Given the description of an element on the screen output the (x, y) to click on. 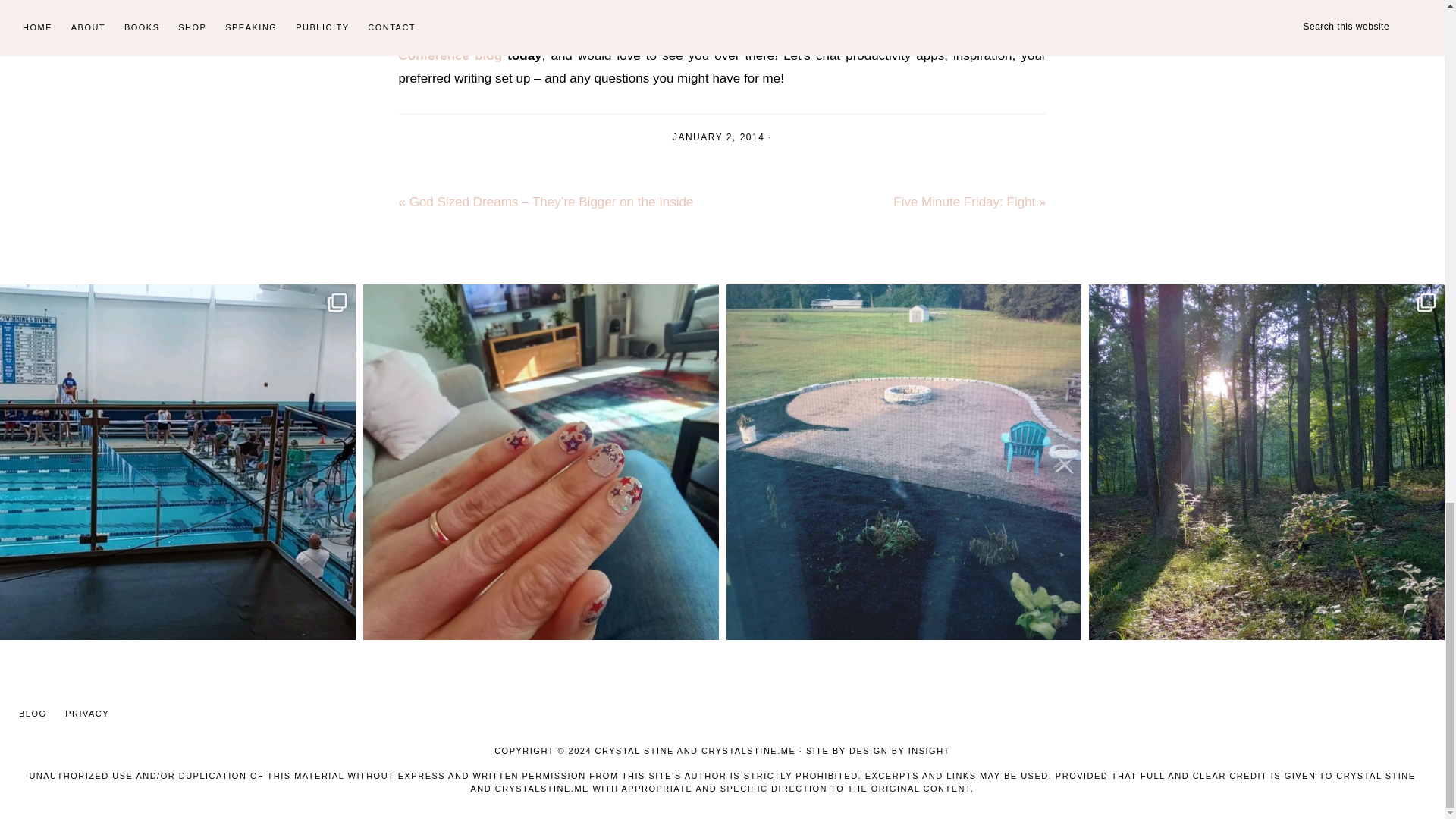
Declare Conference blog (722, 44)
Load More... (654, 665)
coffitivity.com (873, 32)
